Given the description of an element on the screen output the (x, y) to click on. 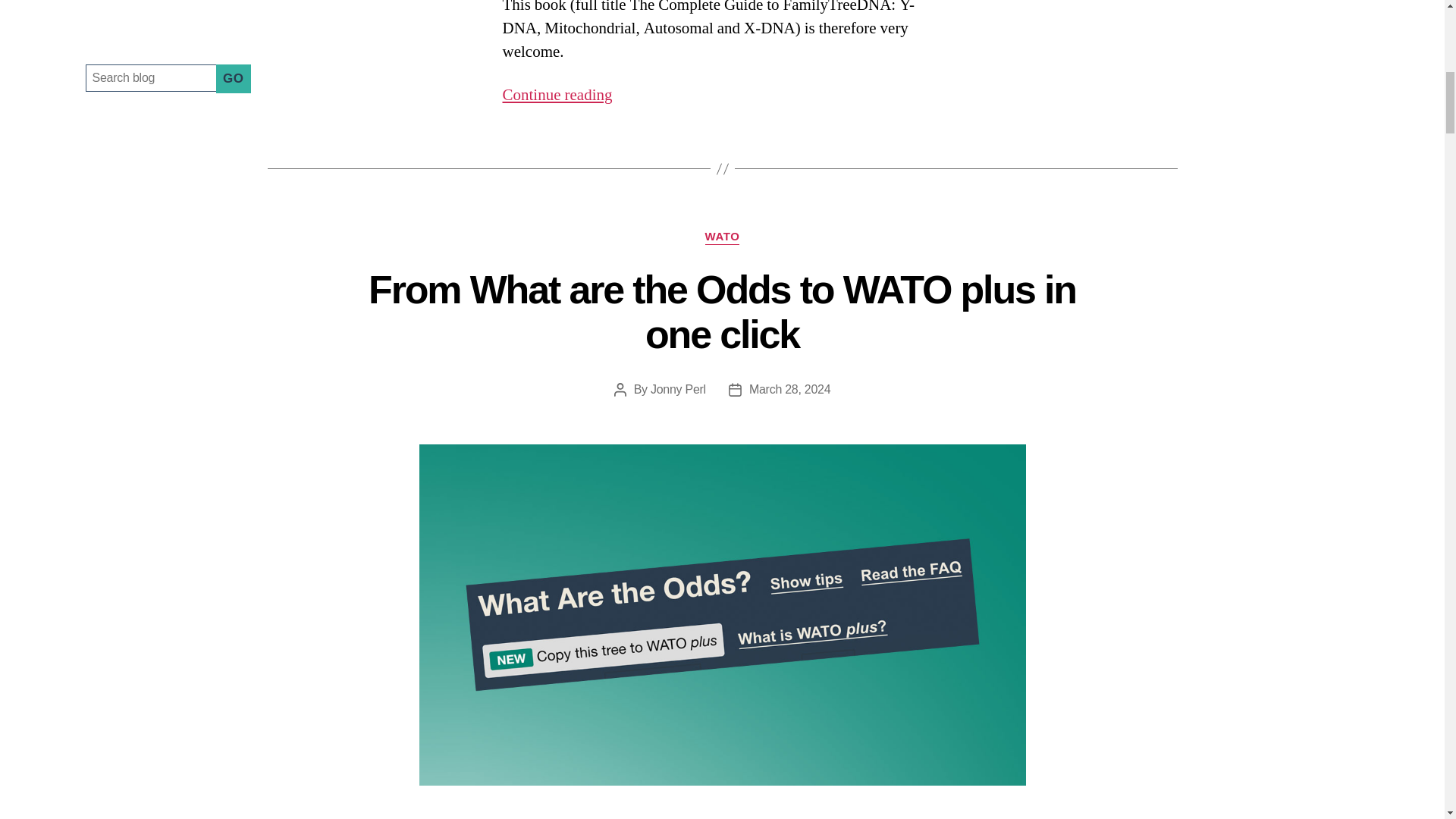
March 28, 2024 (789, 389)
Jonny Perl (678, 389)
WATO (721, 237)
Continue reading (556, 95)
From What are the Odds to WATO plus in one click (721, 311)
